Given the description of an element on the screen output the (x, y) to click on. 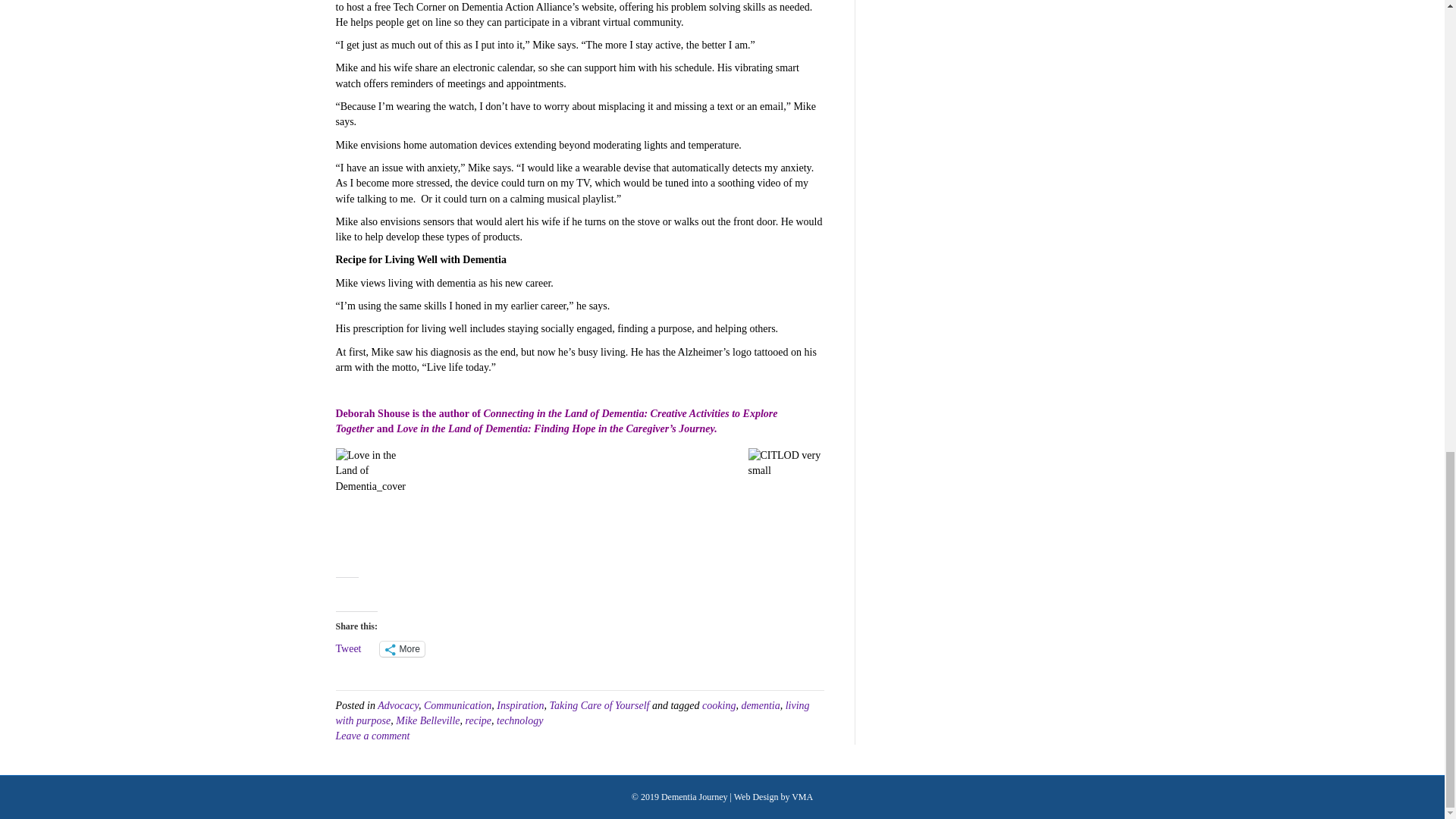
cooking (718, 705)
Advocacy (398, 705)
Taking Care of Yourself (599, 705)
dementia (759, 705)
living with purpose (571, 713)
Inspiration (519, 705)
Communication (457, 705)
More (402, 648)
Tweet (347, 648)
